Given the description of an element on the screen output the (x, y) to click on. 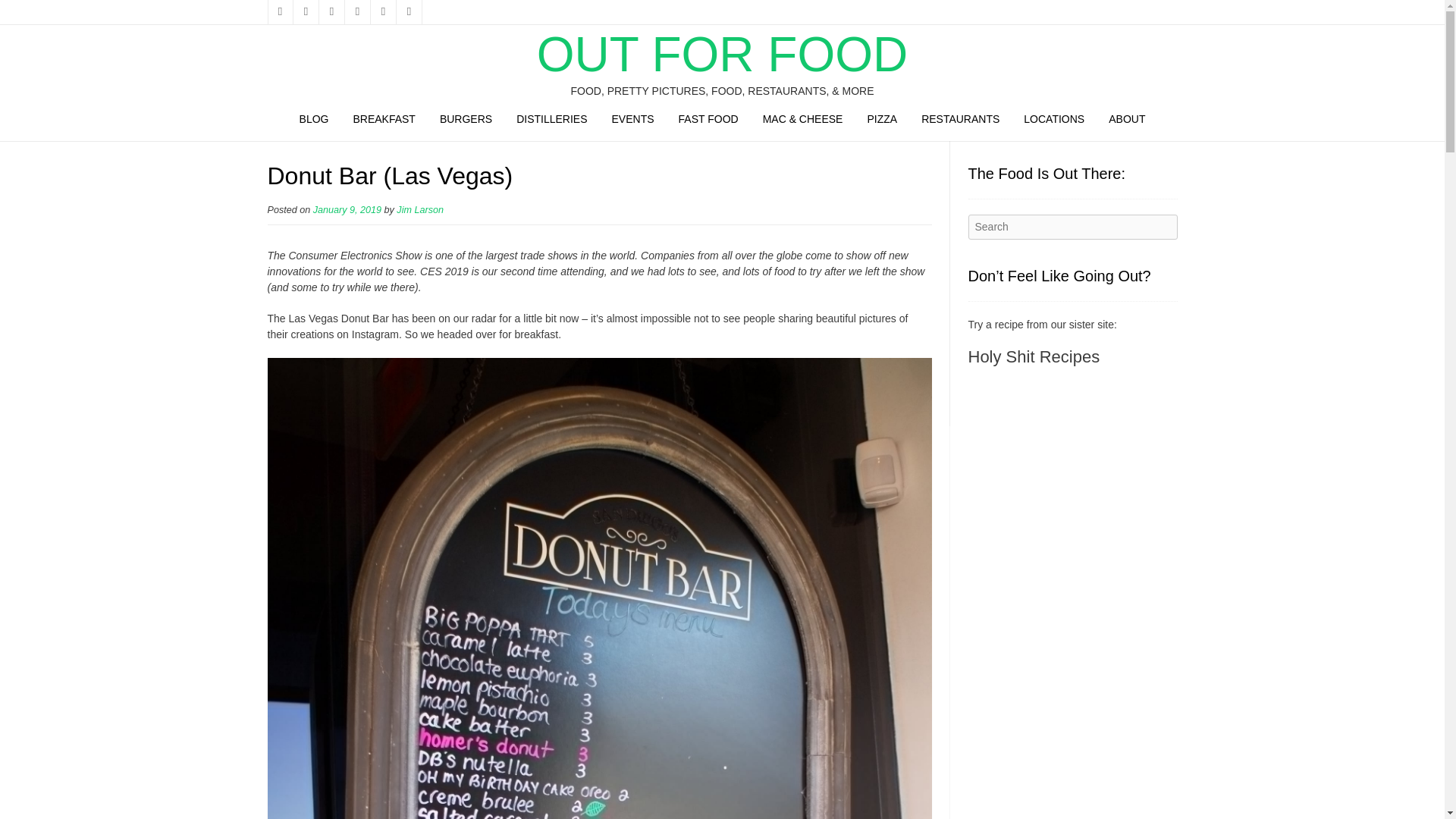
Follow Us on Twitter (305, 12)
Jim Larson (420, 209)
OUT FOR FOOD (722, 54)
ABOUT (1126, 120)
EVENTS (632, 120)
January 9, 2019 (347, 209)
Find Us on TripAdvisor (382, 12)
Out For Food (722, 54)
Holy Shit Recipes (1033, 356)
